Given the description of an element on the screen output the (x, y) to click on. 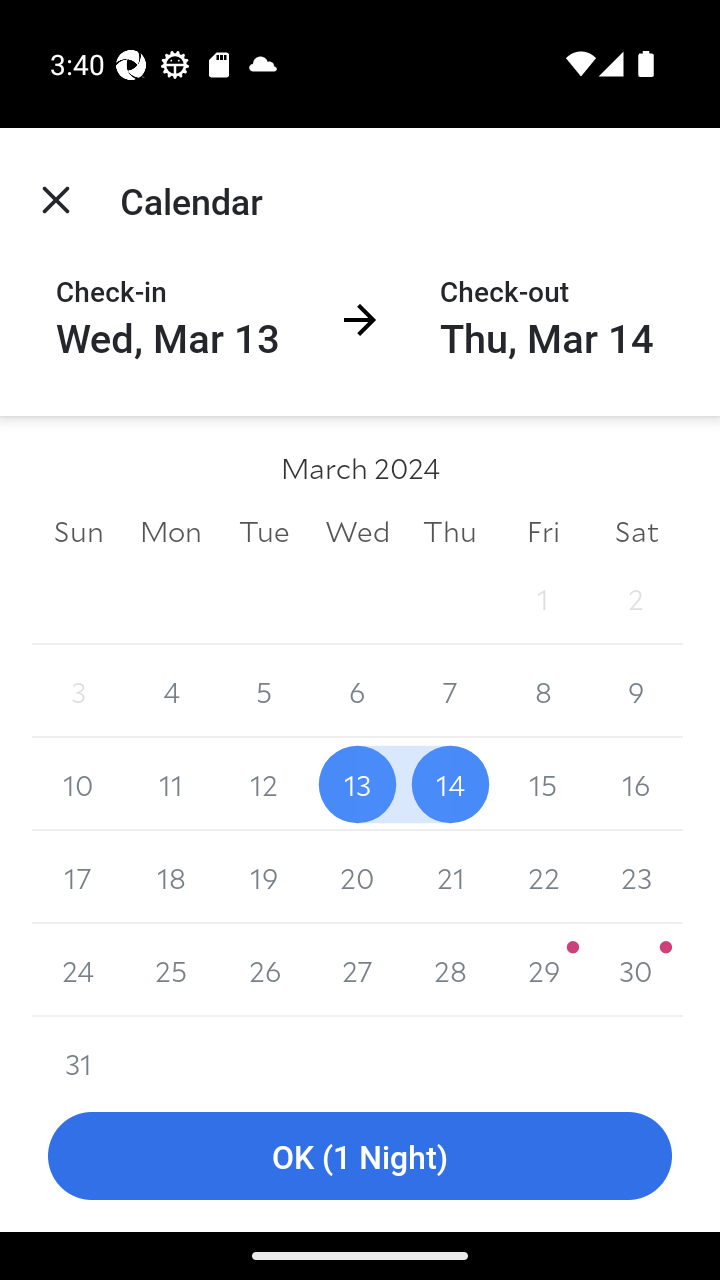
Sun (78, 530)
Mon (171, 530)
Tue (264, 530)
Wed (357, 530)
Thu (449, 530)
Fri (542, 530)
Sat (636, 530)
1 1 March 2024 (542, 598)
2 2 March 2024 (636, 598)
3 3 March 2024 (78, 691)
4 4 March 2024 (171, 691)
5 5 March 2024 (264, 691)
6 6 March 2024 (357, 691)
7 7 March 2024 (449, 691)
8 8 March 2024 (542, 691)
9 9 March 2024 (636, 691)
10 10 March 2024 (78, 784)
11 11 March 2024 (171, 784)
12 12 March 2024 (264, 784)
13 13 March 2024 (357, 784)
14 14 March 2024 (449, 784)
15 15 March 2024 (542, 784)
16 16 March 2024 (636, 784)
17 17 March 2024 (78, 877)
18 18 March 2024 (171, 877)
19 19 March 2024 (264, 877)
20 20 March 2024 (357, 877)
21 21 March 2024 (449, 877)
22 22 March 2024 (542, 877)
23 23 March 2024 (636, 877)
24 24 March 2024 (78, 970)
25 25 March 2024 (171, 970)
26 26 March 2024 (264, 970)
27 27 March 2024 (357, 970)
28 28 March 2024 (449, 970)
29 29 March 2024 (542, 970)
30 30 March 2024 (636, 970)
31 31 March 2024 (78, 1048)
OK (1 Night) (359, 1156)
